Given the description of an element on the screen output the (x, y) to click on. 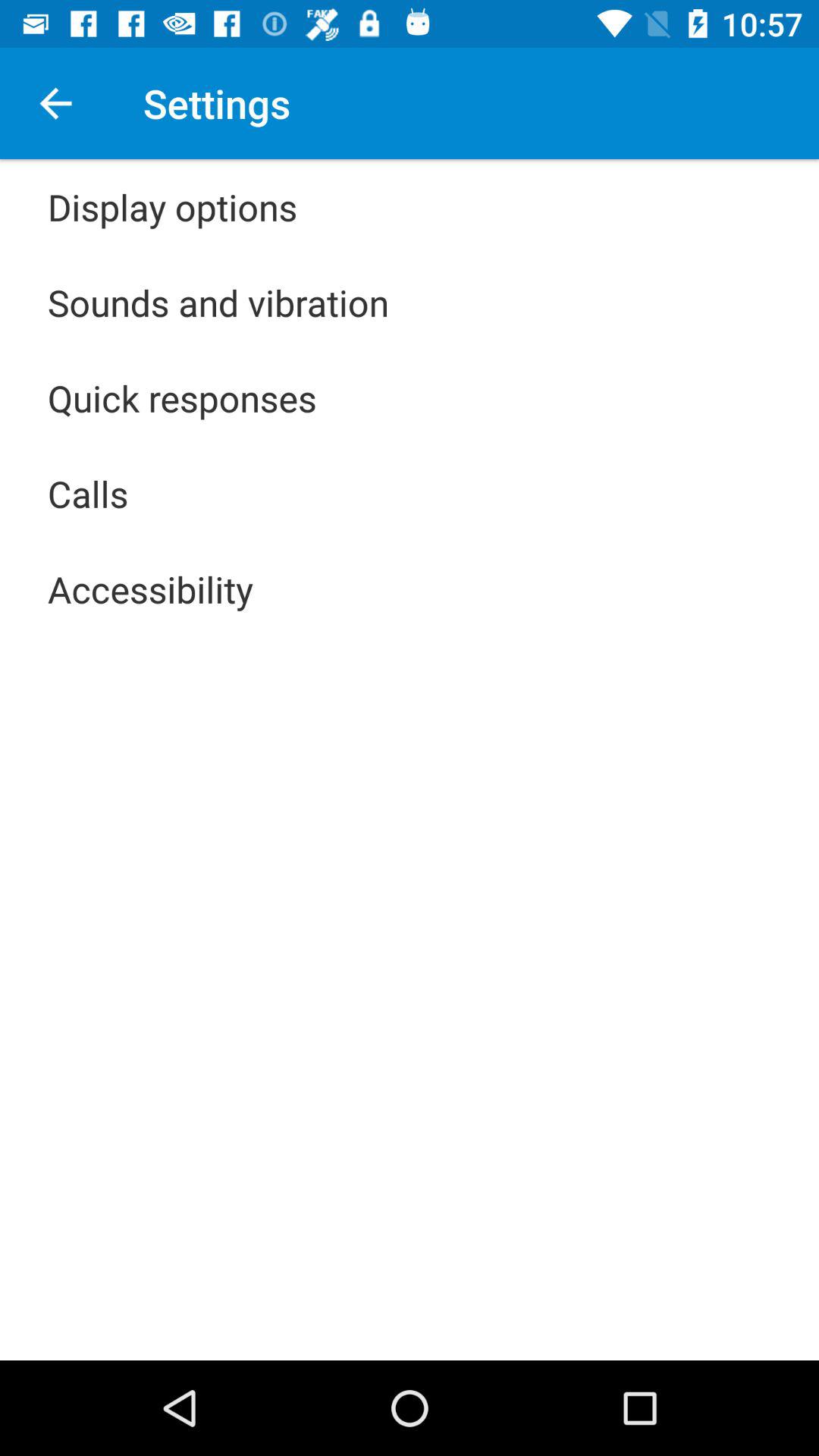
open app below the display options icon (218, 302)
